Given the description of an element on the screen output the (x, y) to click on. 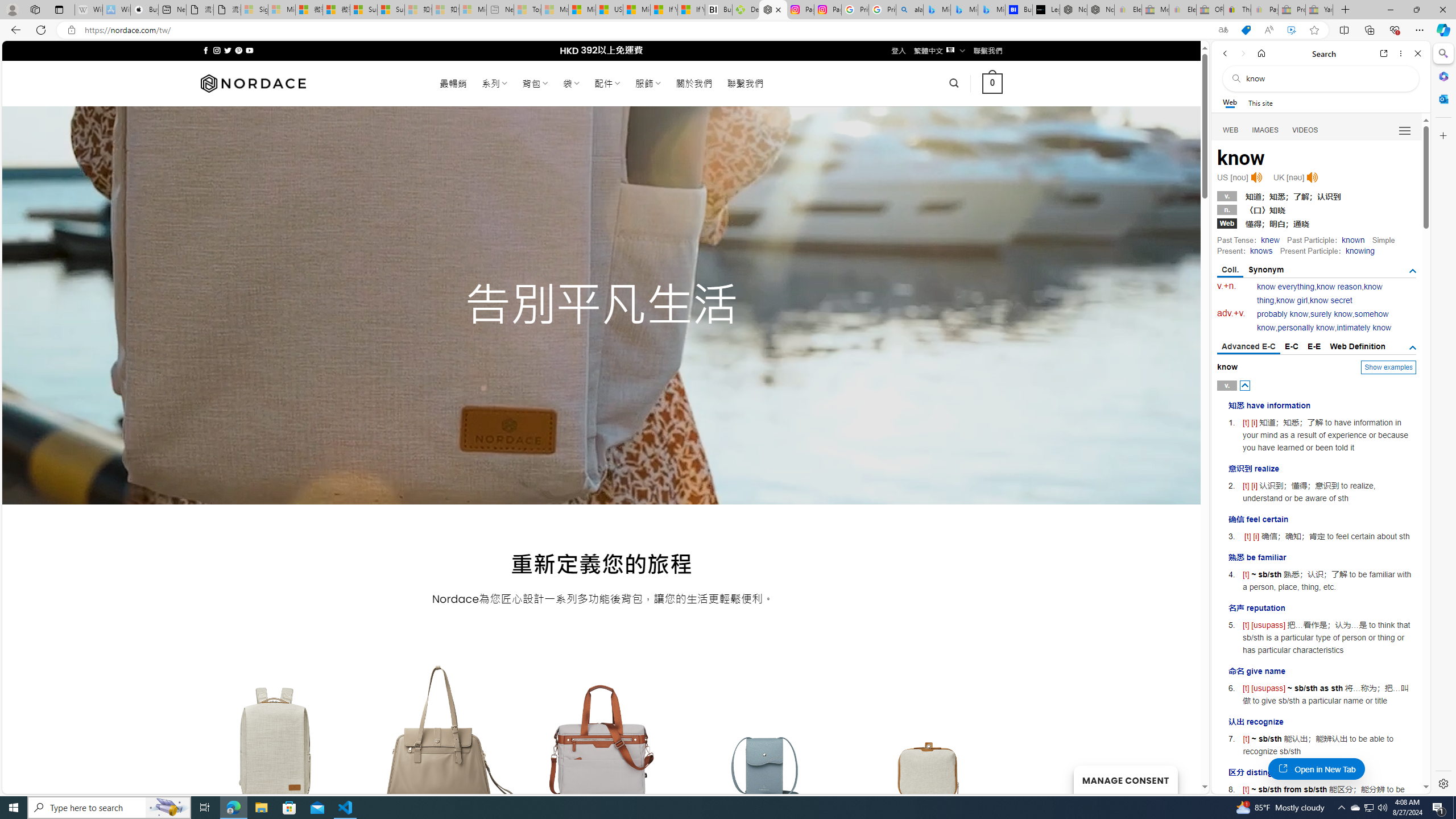
Preferences (1403, 129)
probably know (1282, 313)
Advanced E-C (1248, 346)
AutomationID: tgdef (1412, 347)
known (1352, 239)
